Given the description of an element on the screen output the (x, y) to click on. 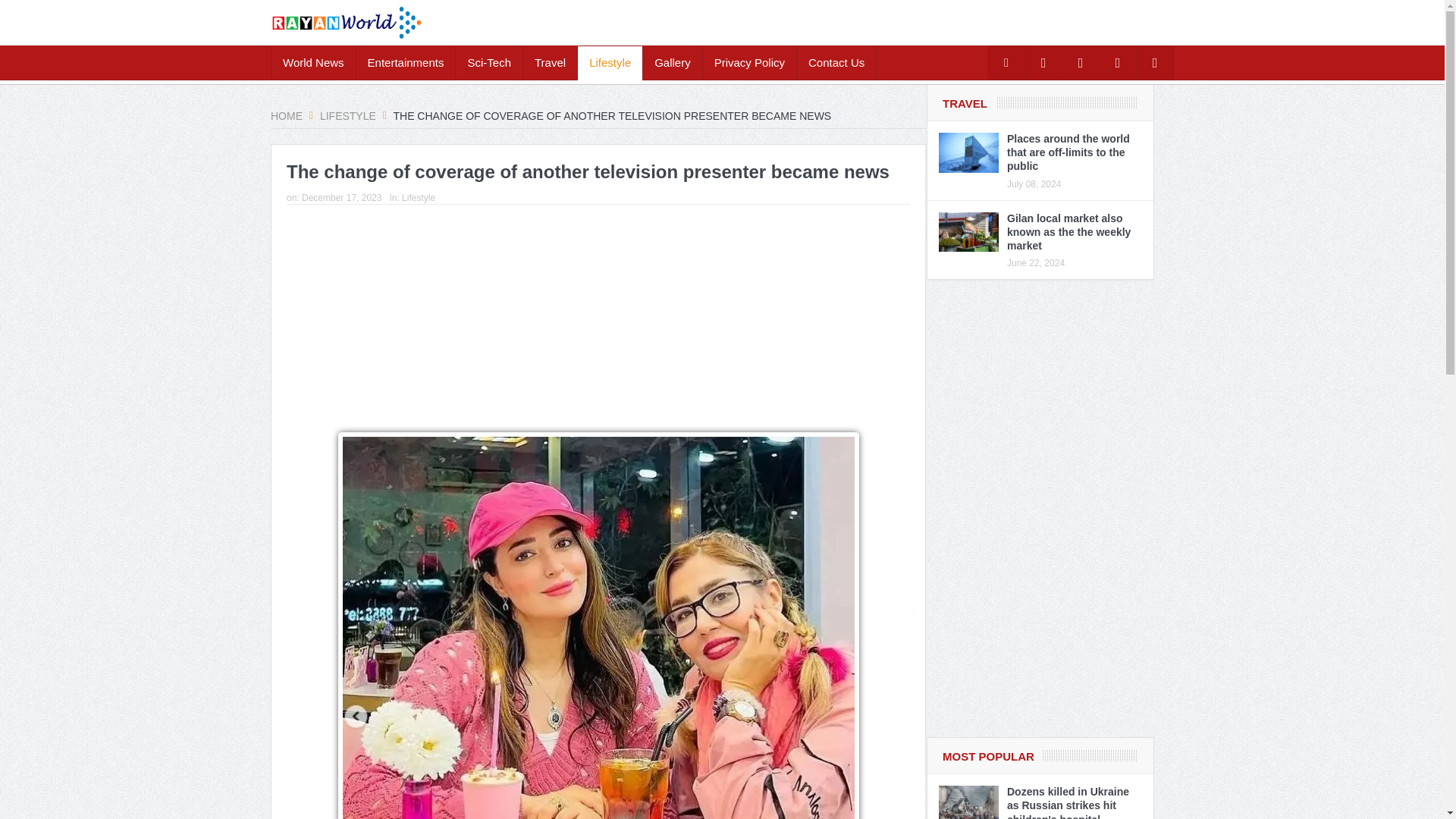
HOME (287, 115)
Entertainments (405, 62)
Lifestyle (349, 115)
Gallery (672, 62)
World News (312, 62)
Sci-Tech (488, 62)
Privacy Policy (749, 62)
Advertisement (598, 318)
Lifestyle (610, 62)
View all posts in Lifestyle (418, 197)
LIFESTYLE (349, 115)
Contact Us (836, 62)
Lifestyle (418, 197)
Travel (549, 62)
TRAVEL (964, 103)
